Given the description of an element on the screen output the (x, y) to click on. 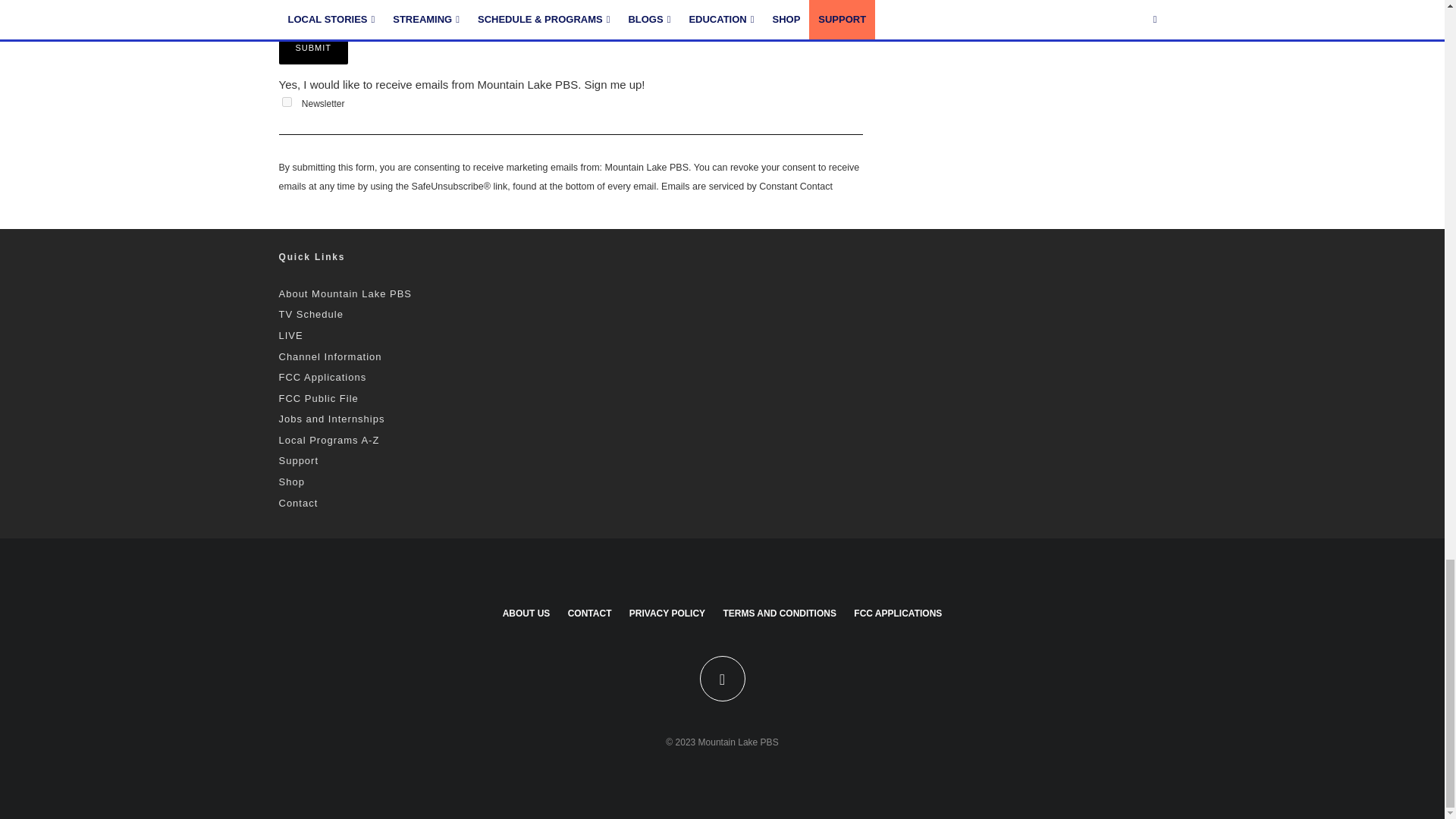
aaf11140-f718-11ec-9c8f-fa163e7e5464 (287, 102)
Submit (314, 47)
